Given the description of an element on the screen output the (x, y) to click on. 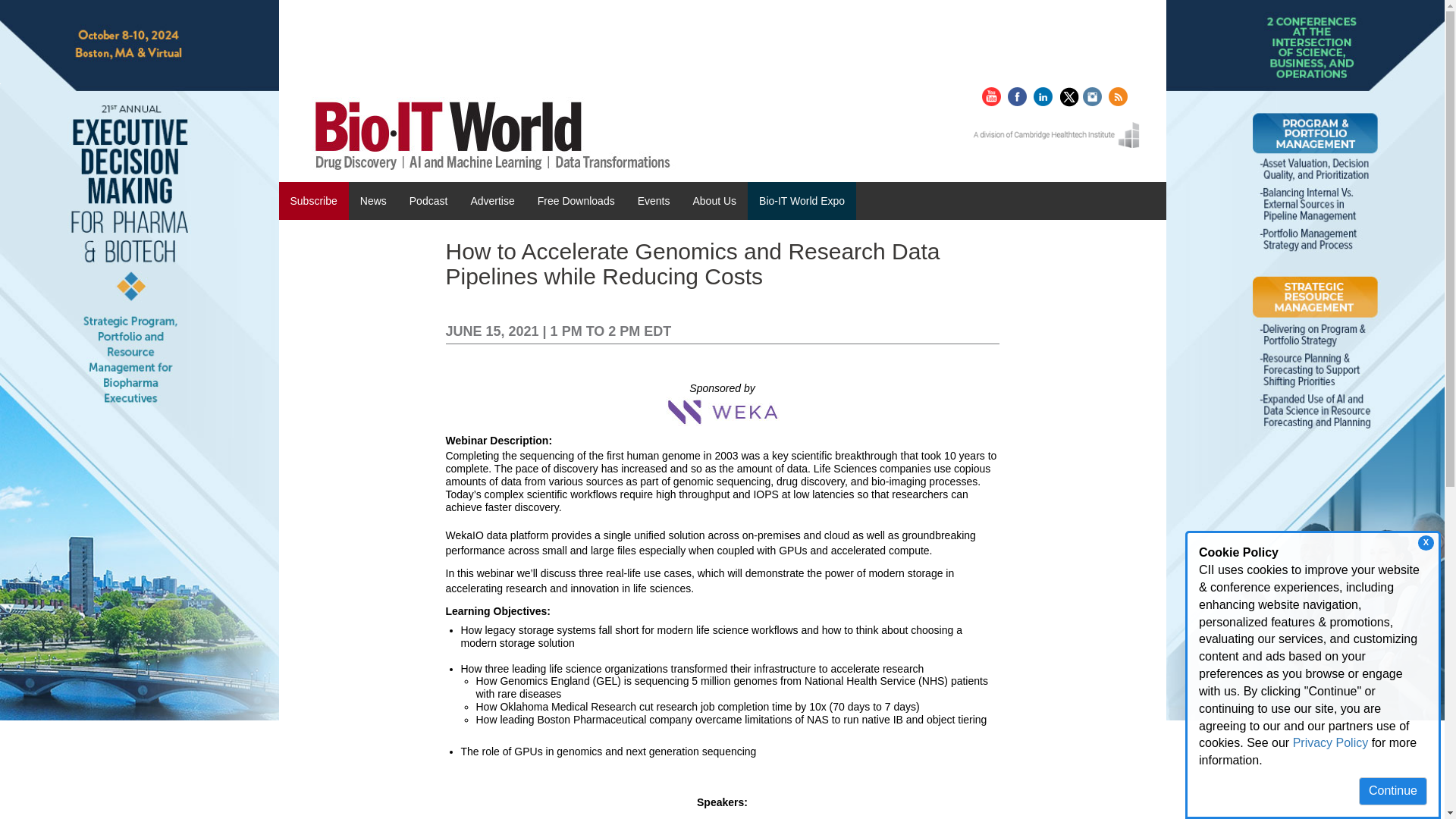
YouTube (992, 93)
a divisiion of chi (1055, 135)
Continue (1392, 791)
Podcast (428, 200)
Bio-IT World News (495, 132)
Free Downloads (575, 200)
Instagram (1094, 94)
Subscribe (314, 200)
Instagram (1094, 93)
3rd party ad content (584, 49)
